Given the description of an element on the screen output the (x, y) to click on. 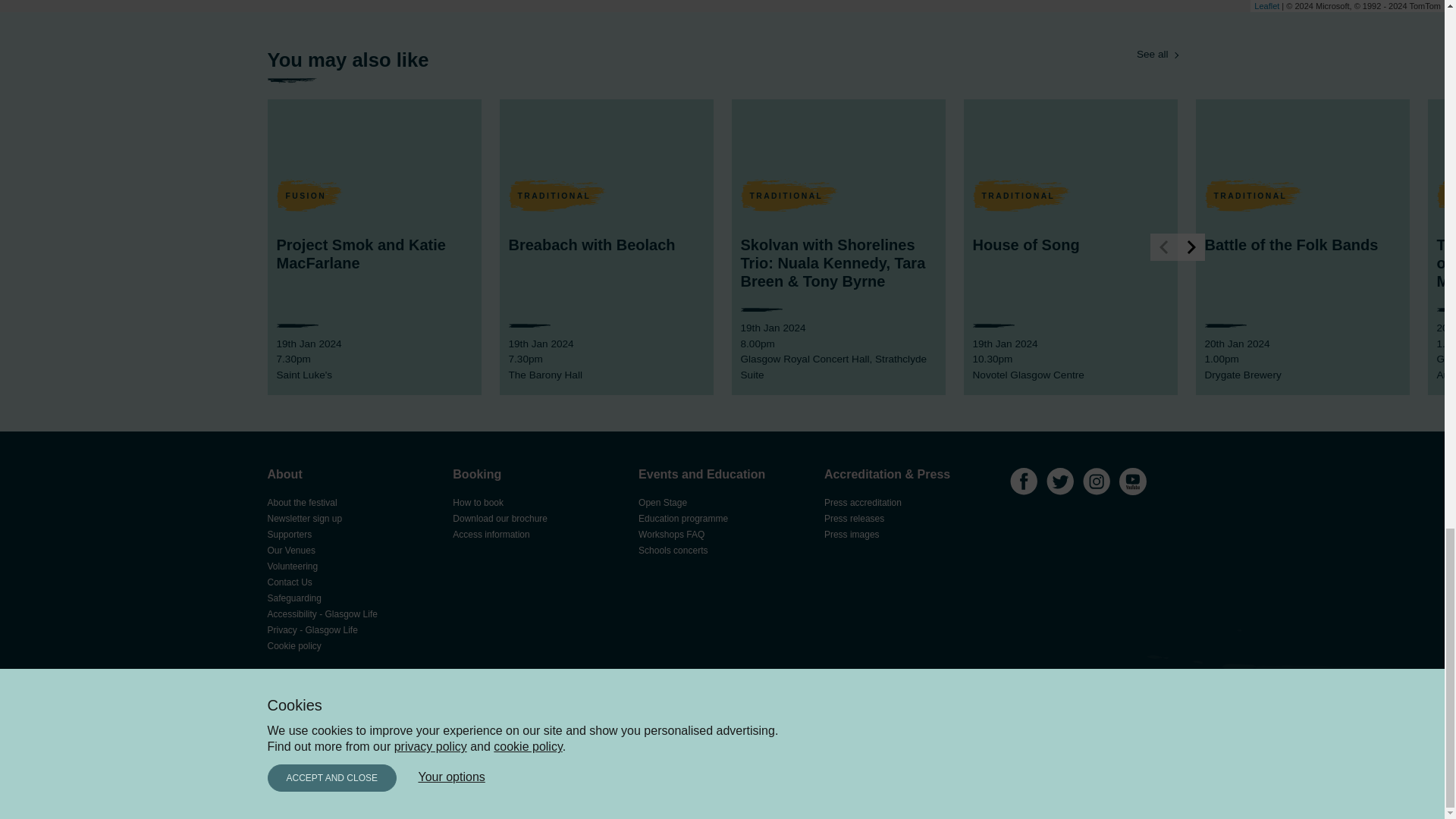
Celtic Connections YouTube channel, opens in a new window (1133, 483)
A JS library for interactive maps (1266, 5)
Celtic Connections Instagram, opens in a new window (1096, 483)
Celtic Connections Twitter, opens in a new window (1060, 483)
Celtic Connections Facebook, opens in a new window (1023, 483)
